Given the description of an element on the screen output the (x, y) to click on. 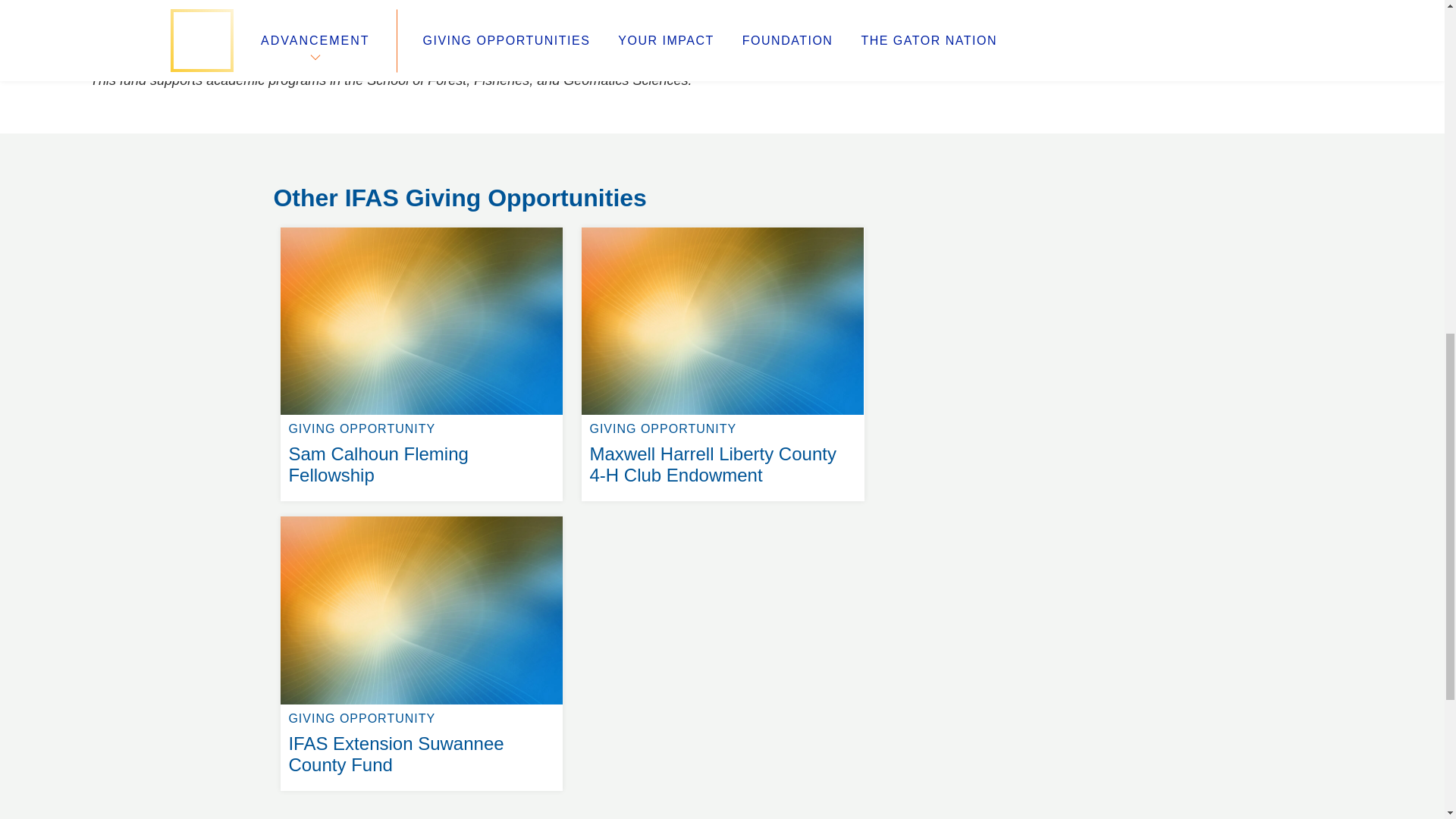
Disclosures (537, 4)
Contact Us (421, 516)
